Given the description of an element on the screen output the (x, y) to click on. 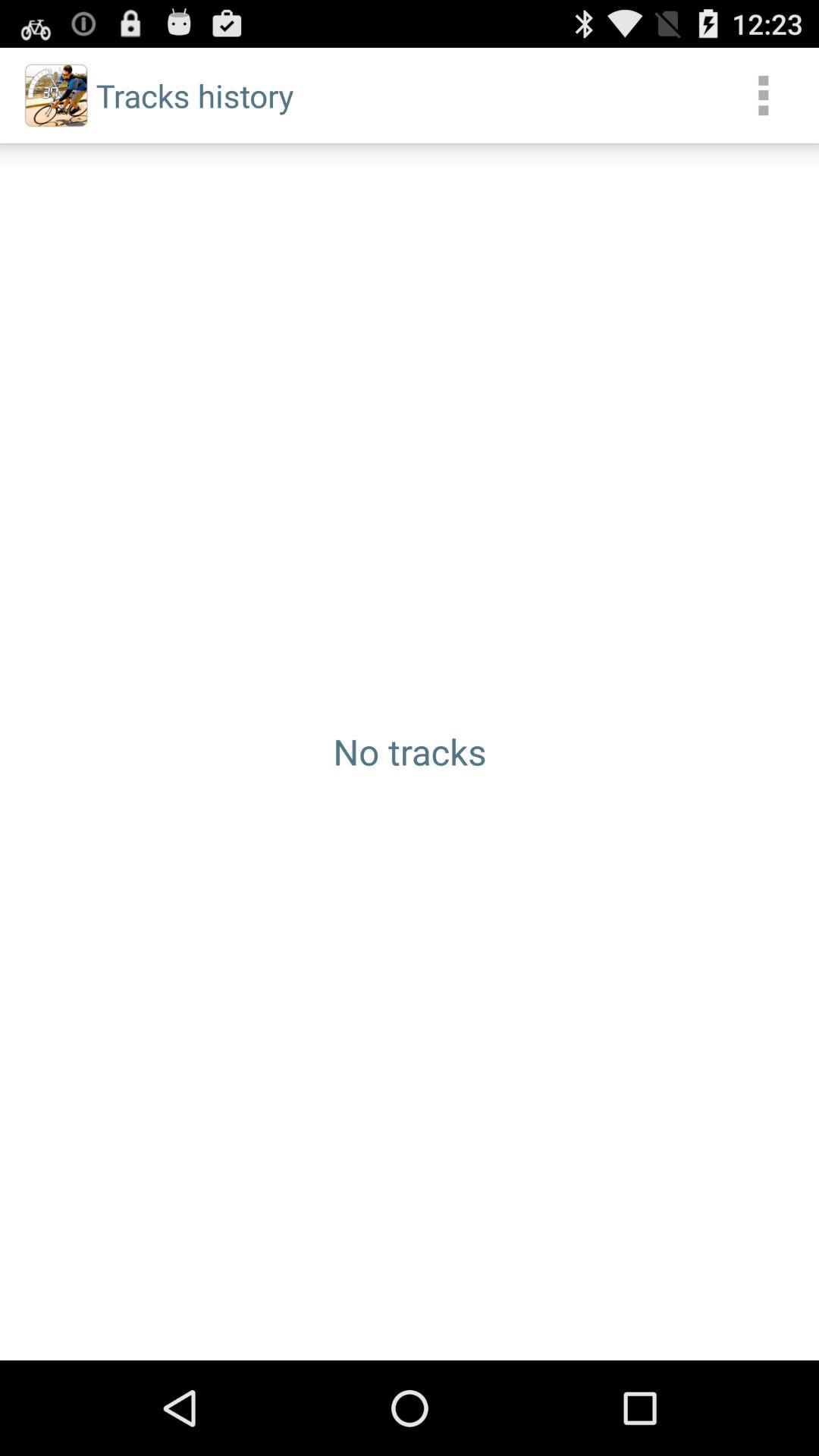
launch icon at the top right corner (763, 95)
